Given the description of an element on the screen output the (x, y) to click on. 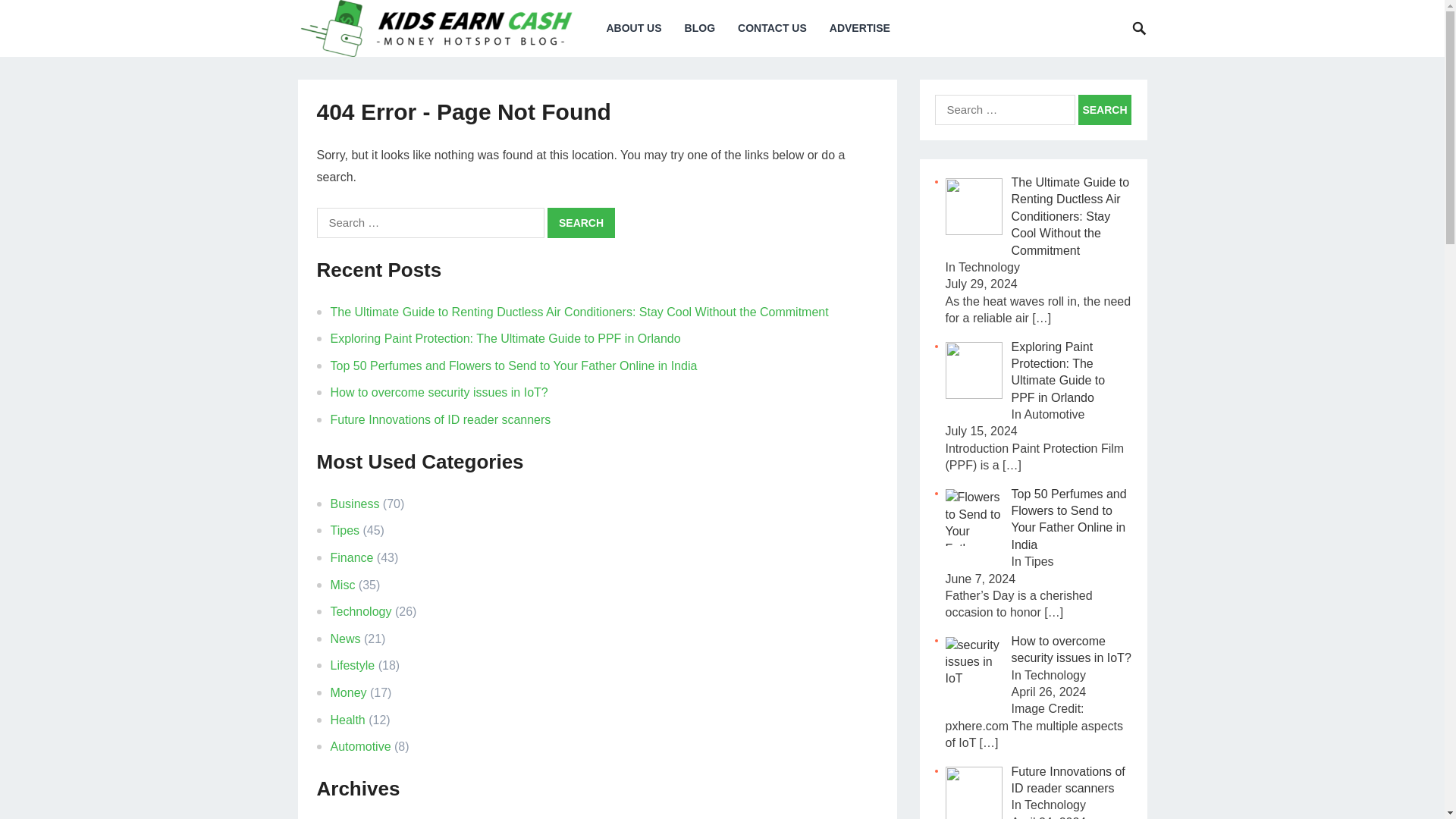
Future Innovations of ID reader scanners (440, 419)
News (345, 638)
Misc (342, 584)
Business (355, 503)
Search (580, 223)
Lifestyle (352, 665)
ADVERTISE (859, 28)
Technology (360, 611)
Automotive (360, 746)
